Given the description of an element on the screen output the (x, y) to click on. 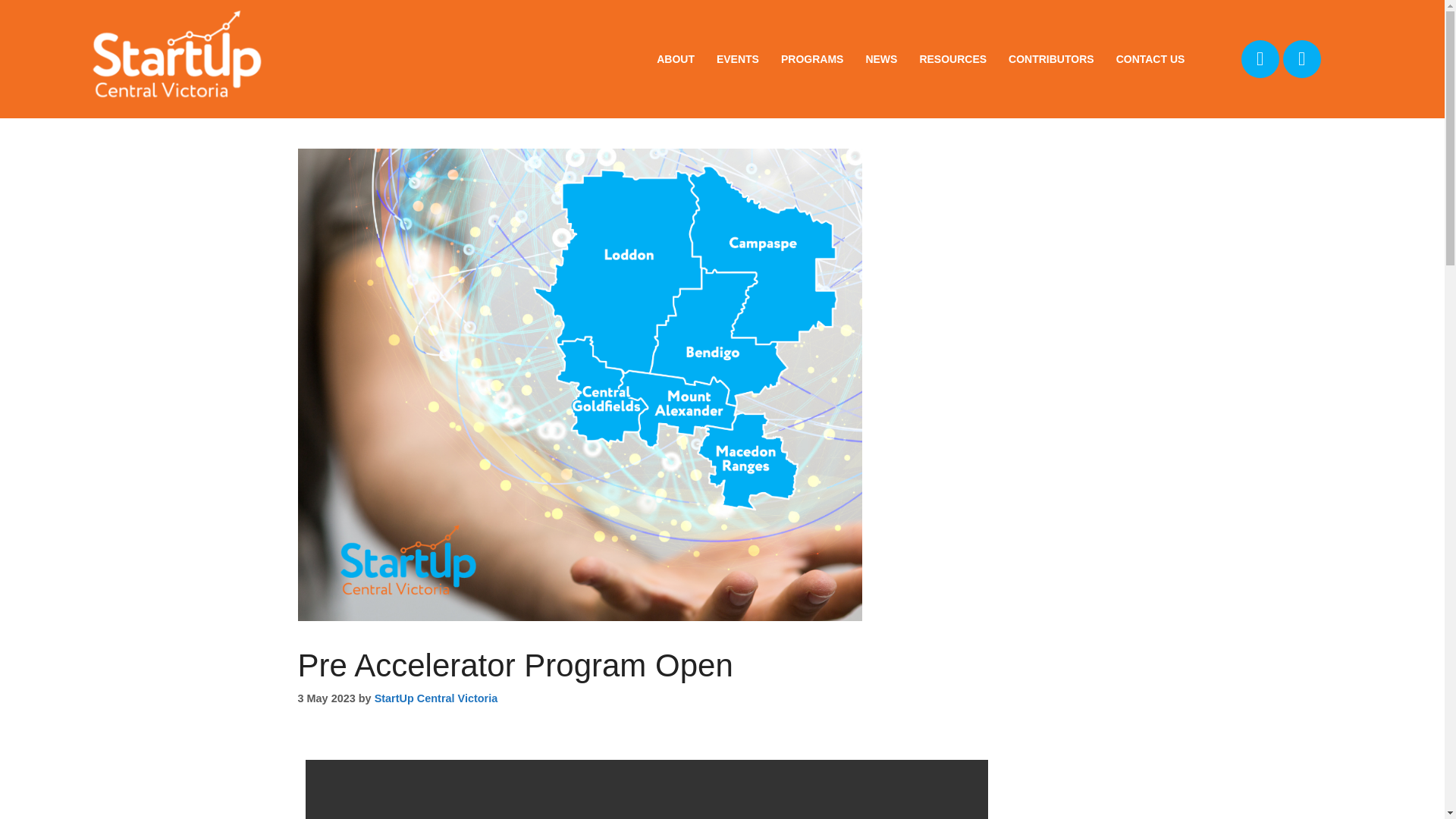
CONTACT US (1149, 58)
ABOUT (675, 58)
View all posts by StartUp Central Victoria (435, 698)
PROGRAMS (811, 58)
EVENTS (737, 58)
StartUp Central Victoria (435, 698)
RESOURCES (952, 58)
CONTRIBUTORS (1050, 58)
NEWS (880, 58)
